Given the description of an element on the screen output the (x, y) to click on. 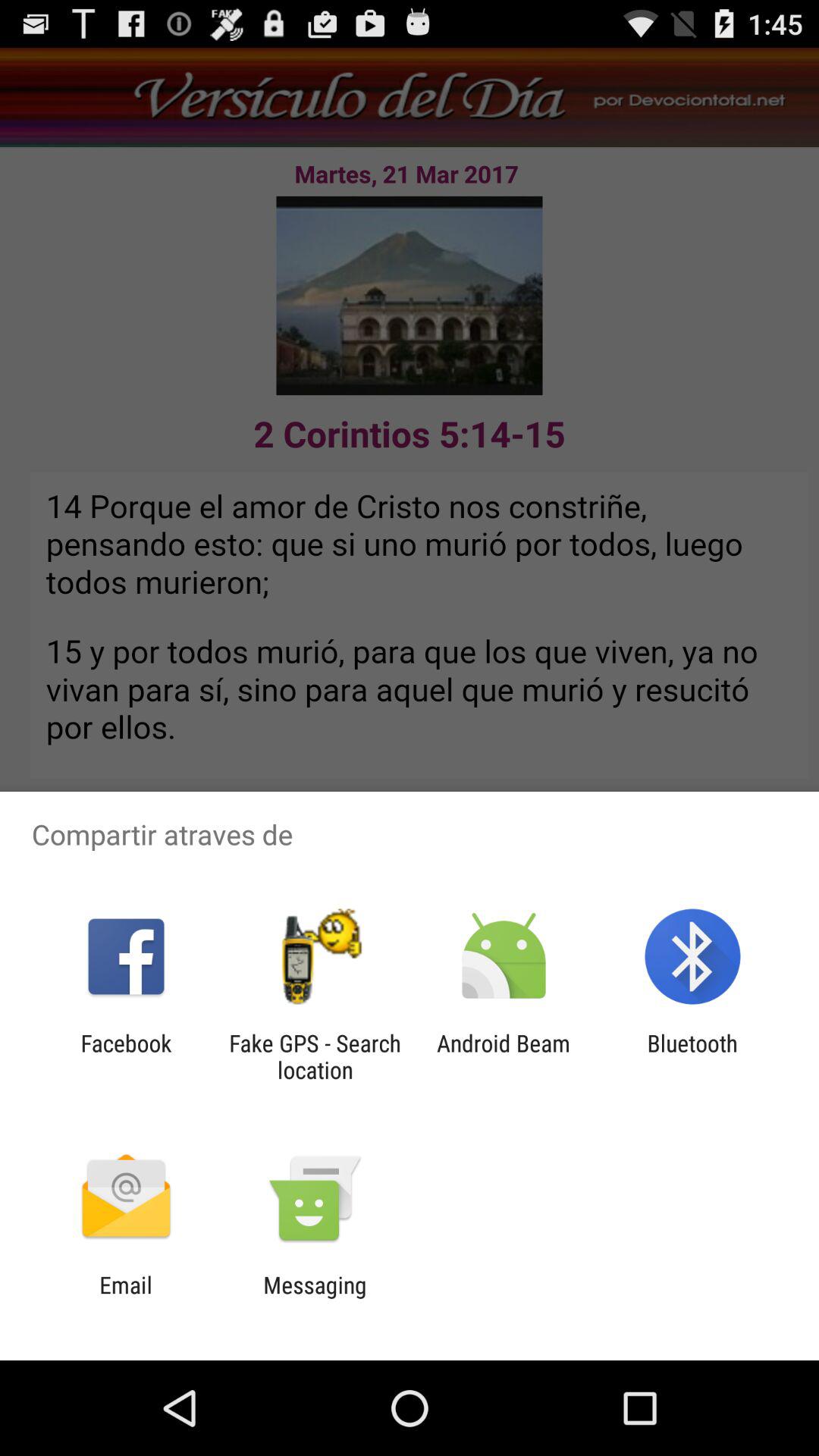
turn off icon to the right of facebook item (314, 1056)
